Given the description of an element on the screen output the (x, y) to click on. 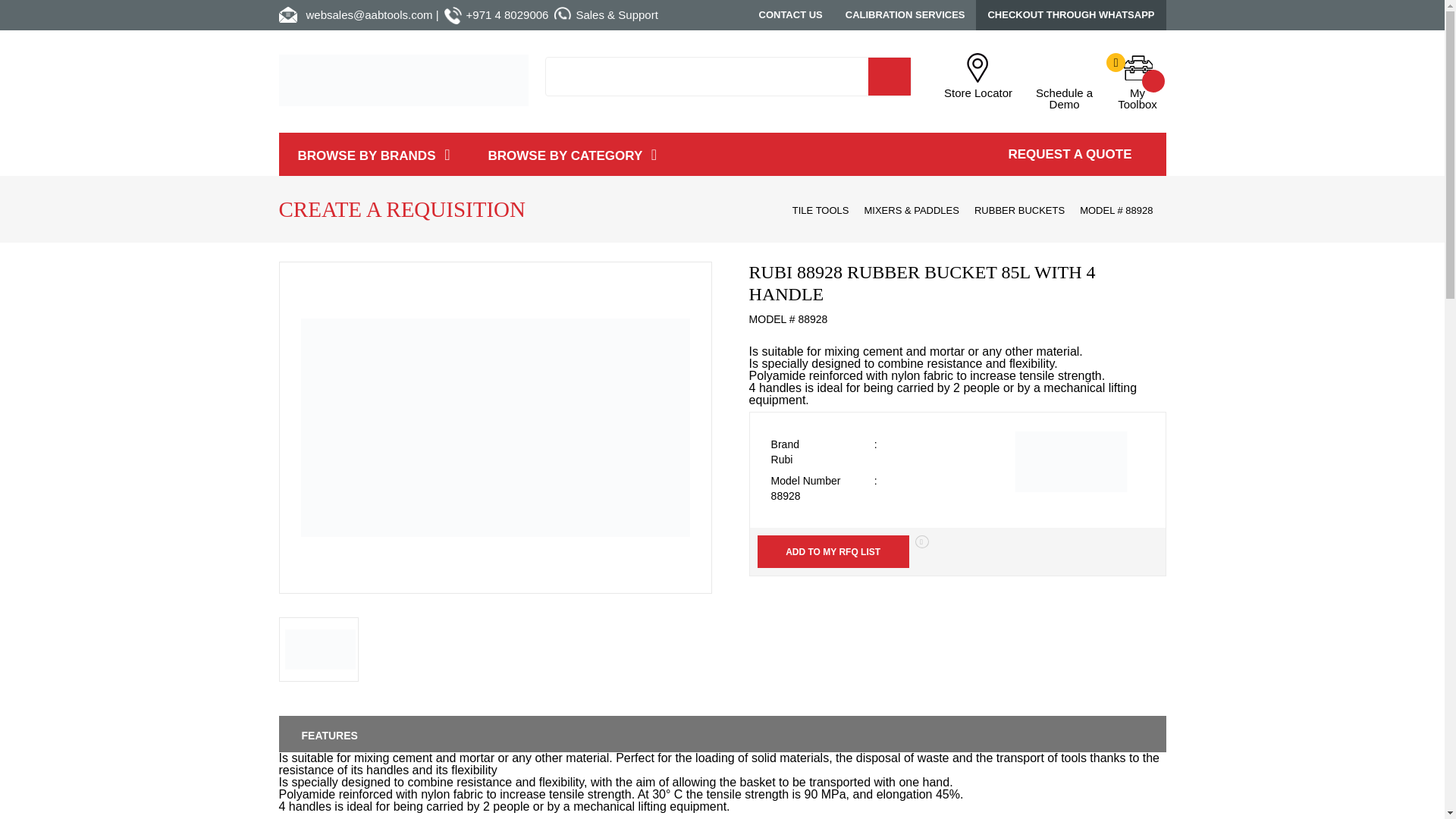
CHECKOUT THROUGH WHATSAPP (1070, 15)
Store Locator (982, 75)
CALIBRATION SERVICES (905, 15)
BROWSE BY BRANDS (1064, 81)
CONTACT US (1131, 81)
